Given the description of an element on the screen output the (x, y) to click on. 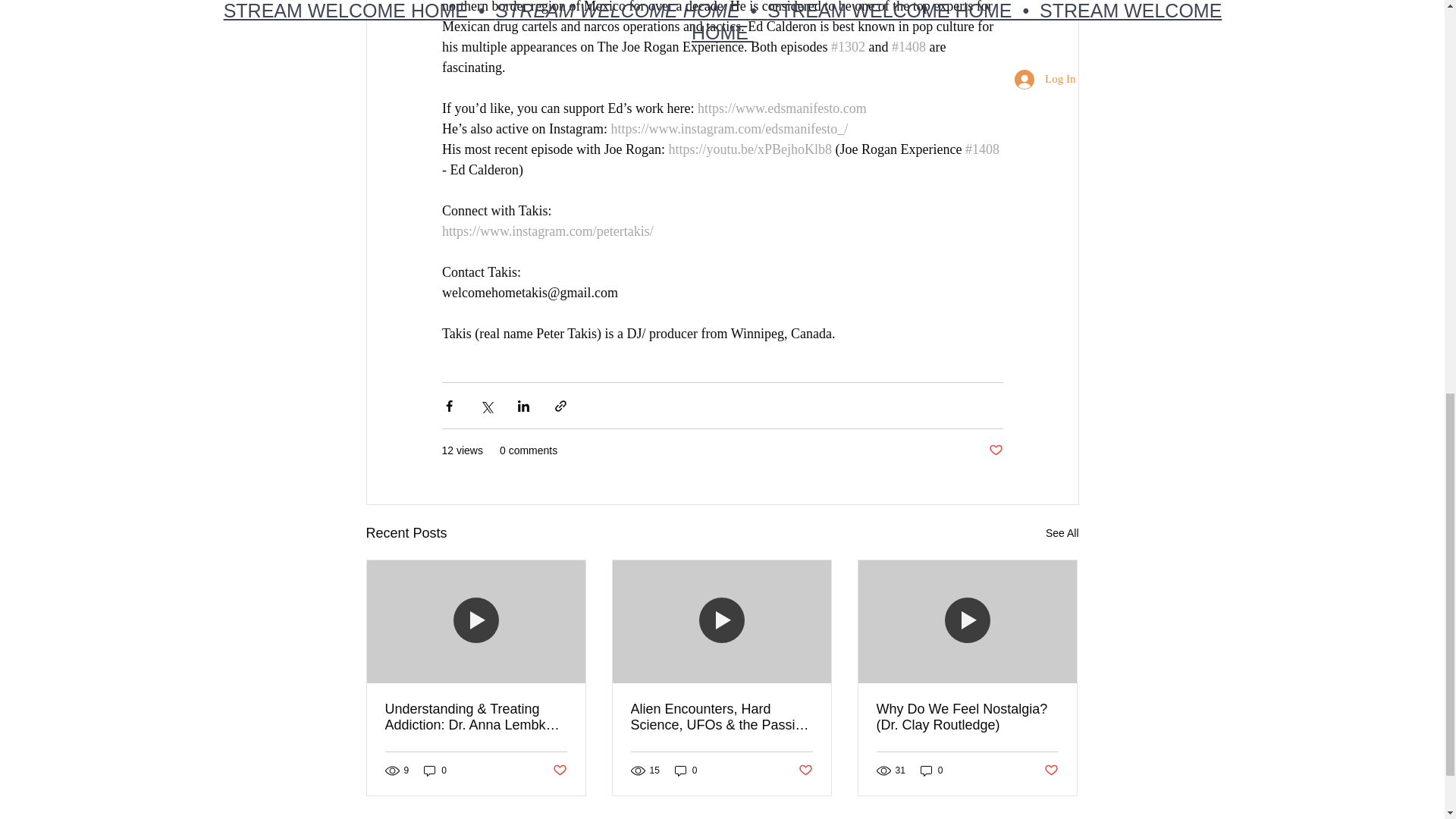
0 (435, 770)
0 (685, 770)
See All (1061, 533)
0 (931, 770)
Post not marked as liked (995, 450)
Post not marked as liked (558, 770)
Post not marked as liked (1050, 770)
Post not marked as liked (804, 770)
